Given the description of an element on the screen output the (x, y) to click on. 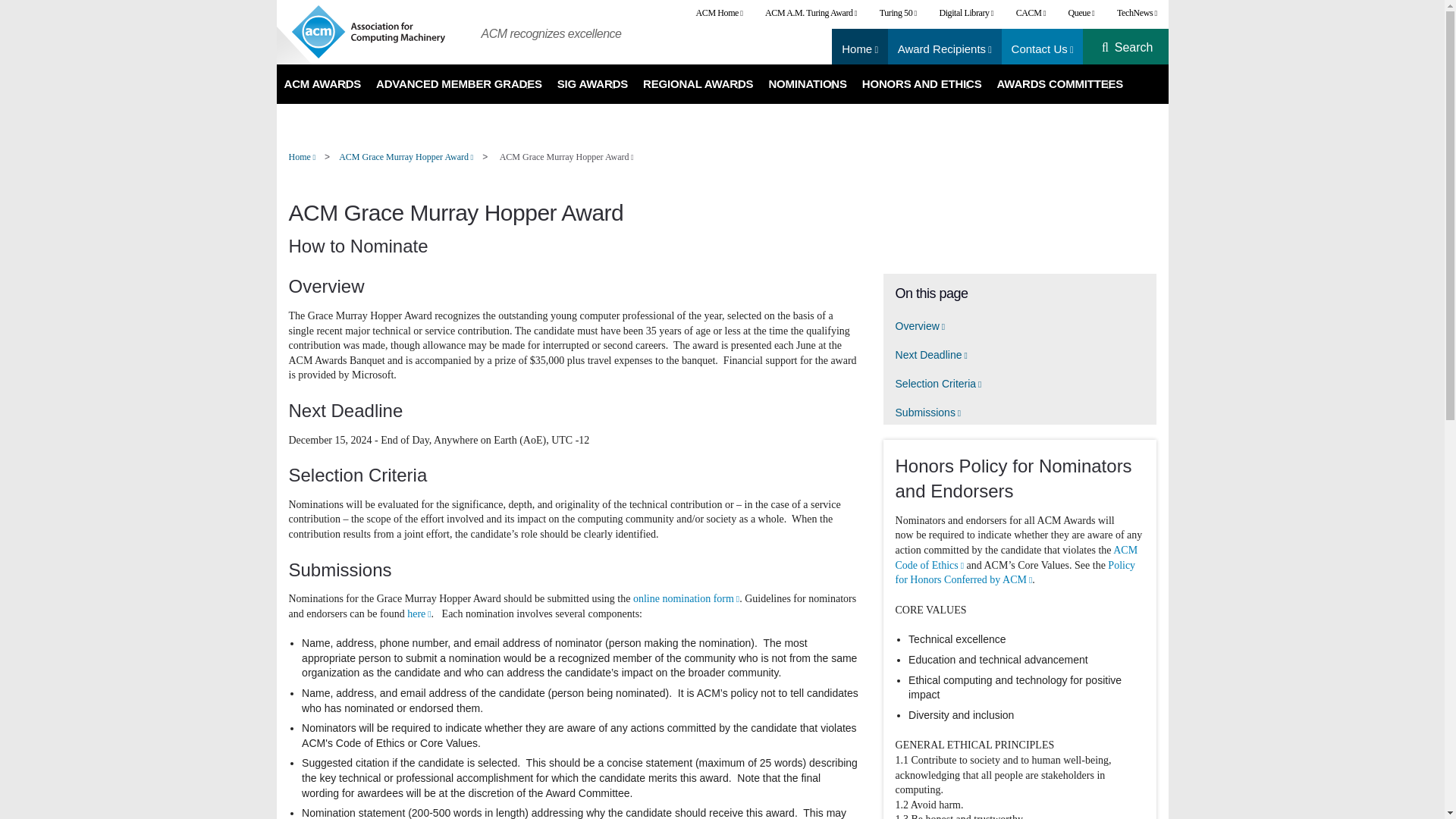
Search (1134, 47)
Search (1134, 47)
TechNews (1136, 13)
Turing 50 (897, 13)
ACM A.M. Turing Award (810, 13)
Home (859, 48)
TechNews (1136, 13)
Queue (1081, 13)
Digital Library (966, 13)
ACM A.M. Turing Award (810, 13)
